Given the description of an element on the screen output the (x, y) to click on. 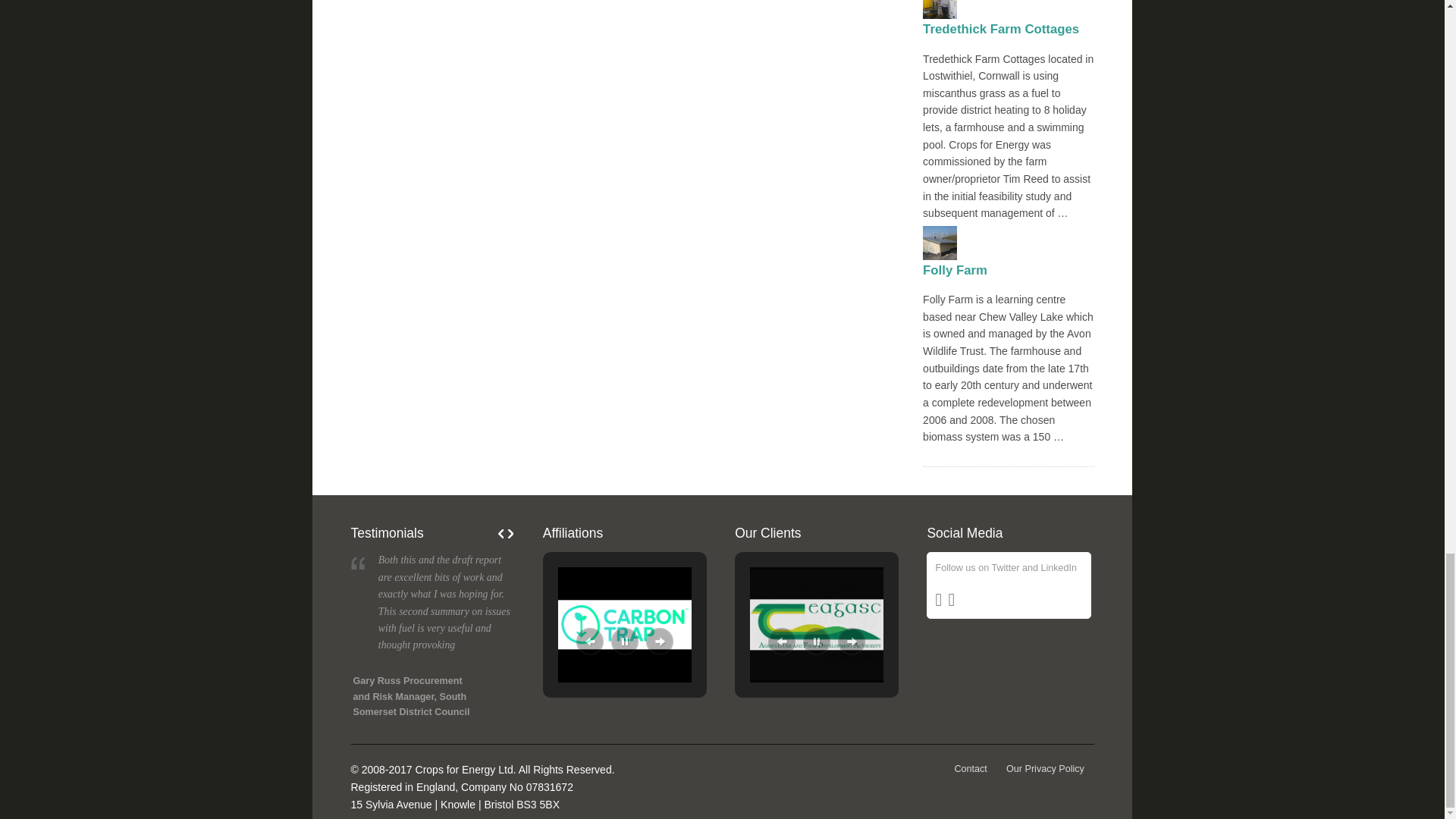
carbon-trap-logo-1622-x-602 (624, 624)
